Given the description of an element on the screen output the (x, y) to click on. 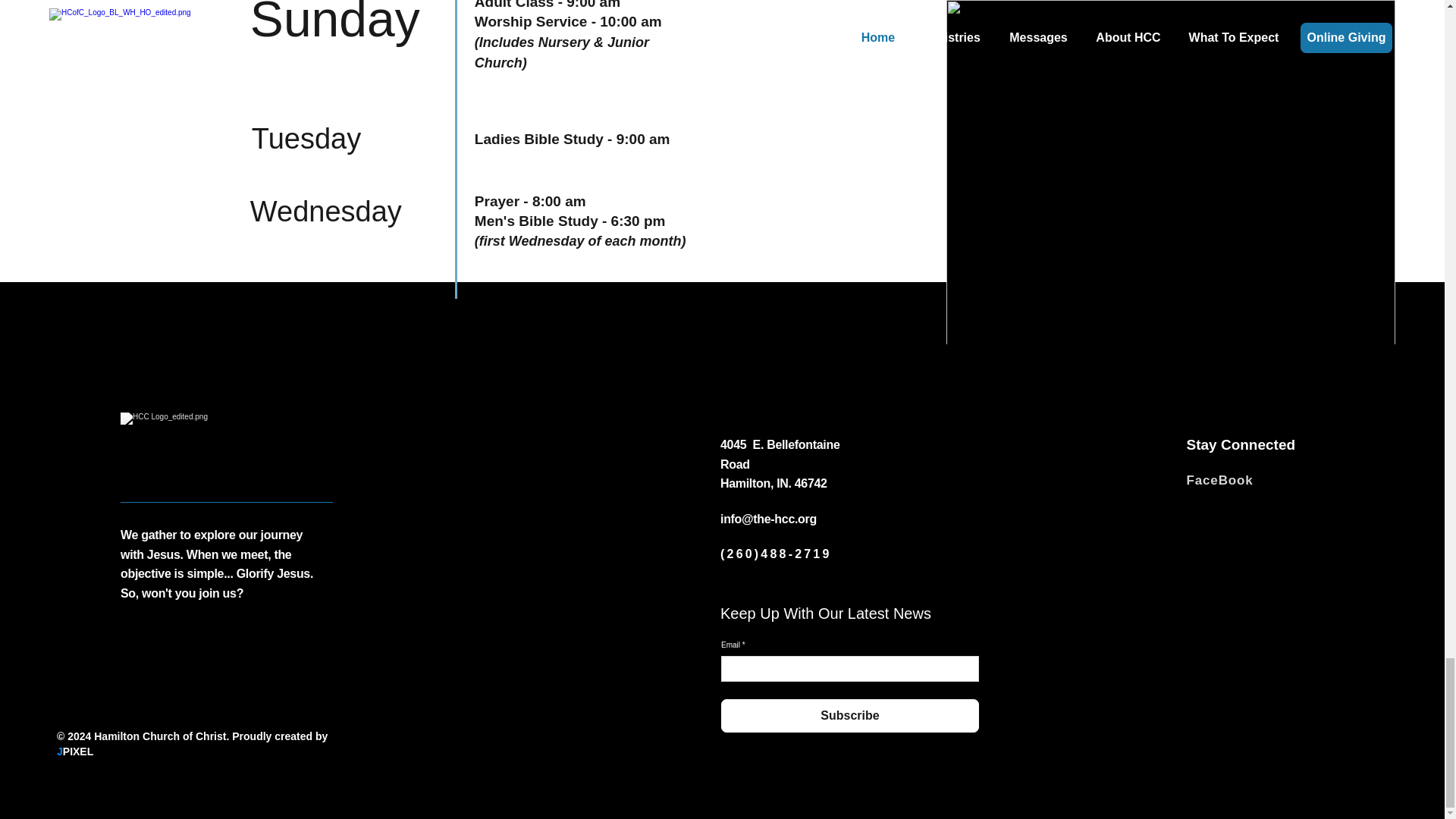
JPIXEL (74, 751)
Stay Connected (1240, 444)
Subscribe (849, 715)
FaceBook (1219, 480)
